Given the description of an element on the screen output the (x, y) to click on. 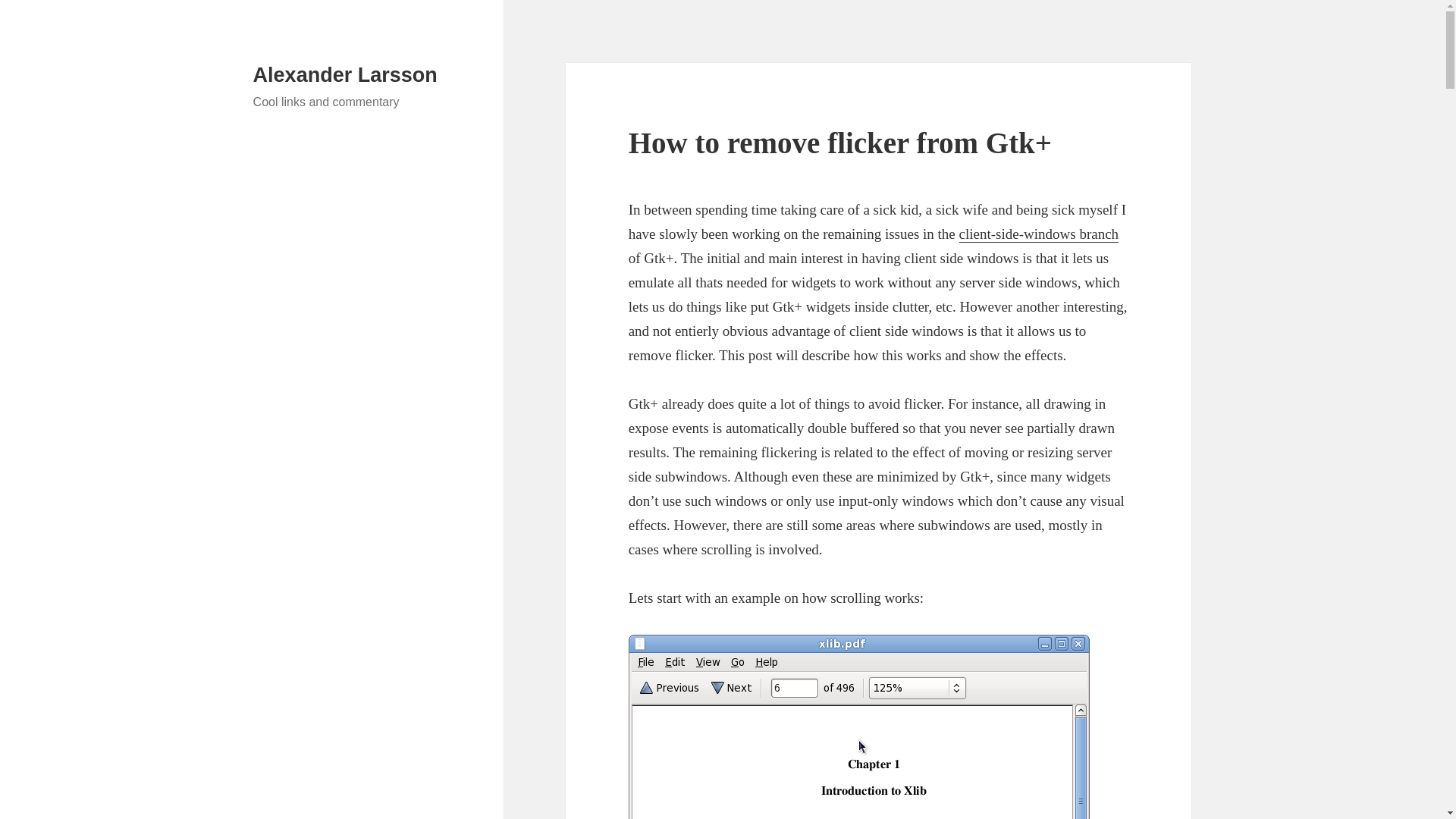
client-side-windows branch (1039, 234)
Alexander Larsson (345, 74)
Evince (858, 726)
